Given the description of an element on the screen output the (x, y) to click on. 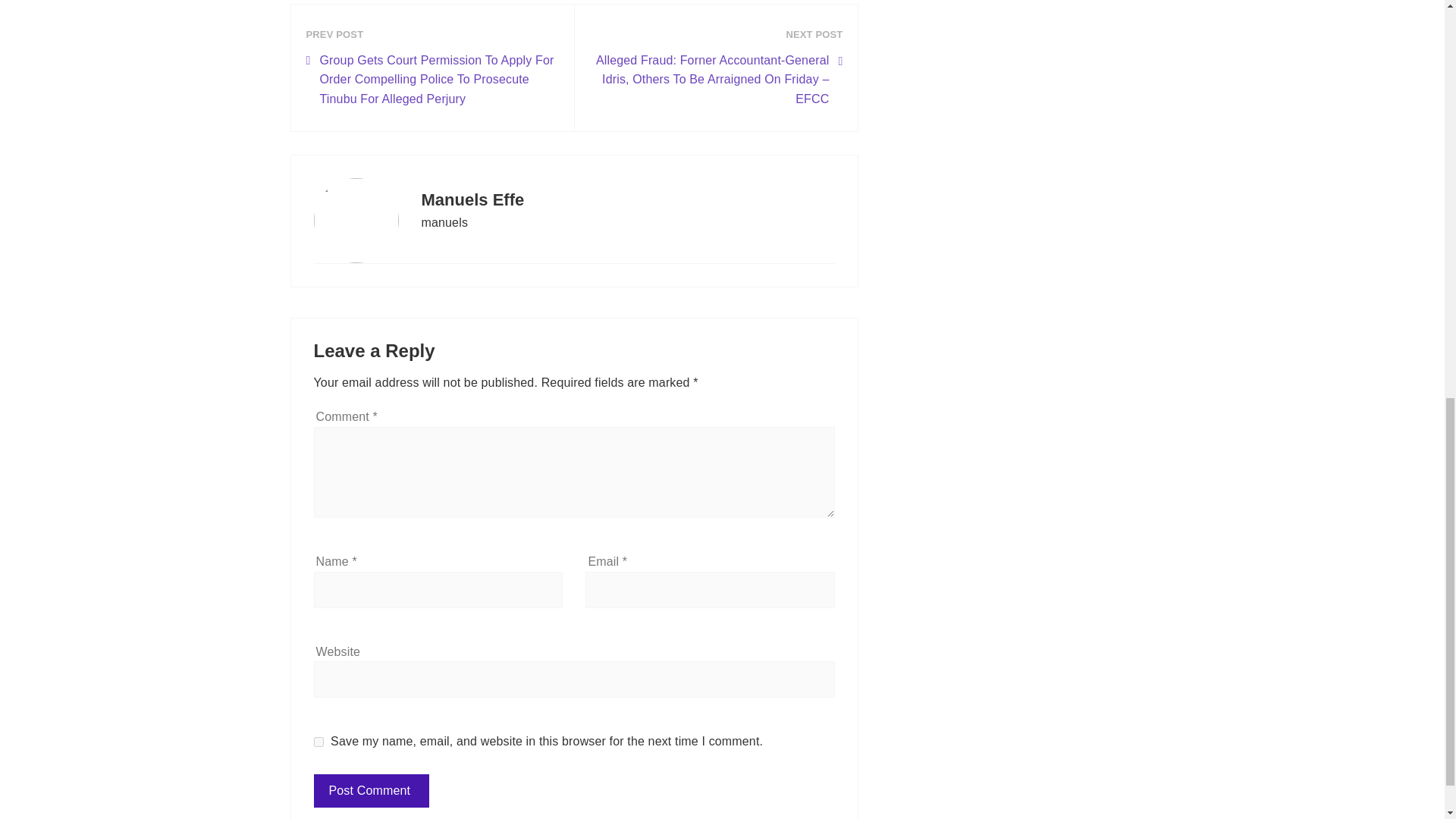
Post Comment (371, 790)
yes (318, 741)
Post Comment (371, 790)
